Given the description of an element on the screen output the (x, y) to click on. 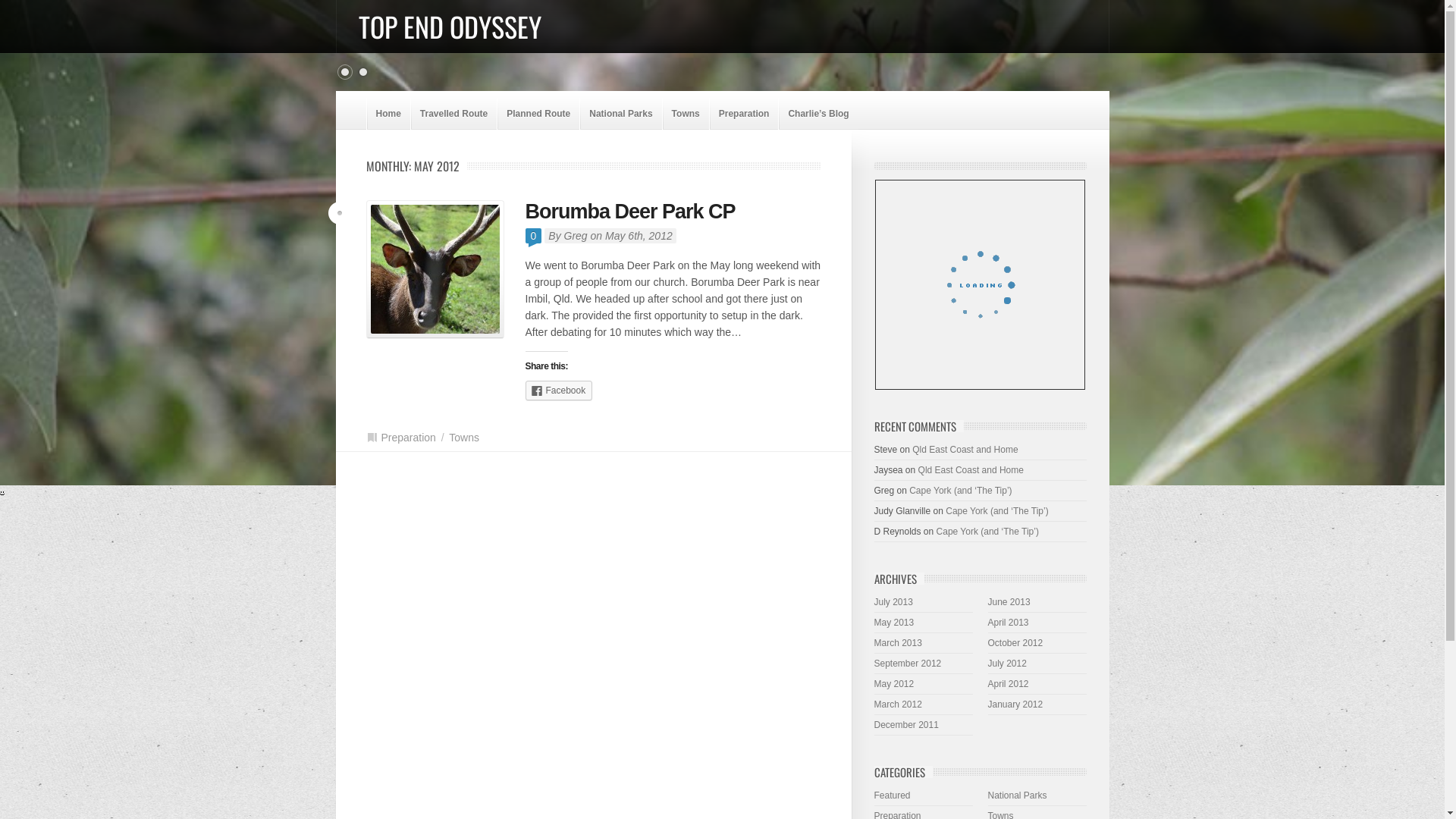
Greg Element type: text (575, 235)
0 Element type: text (343, 71)
Towns Element type: text (463, 437)
Featured Element type: text (891, 795)
May 2013 Element type: text (893, 622)
Borumba Deer Park CP Element type: hover (434, 269)
December 2011 Element type: text (905, 724)
April 2012 Element type: text (1007, 683)
July 2012 Element type: text (1006, 663)
Qld East Coast and Home Element type: text (964, 449)
1 Element type: text (362, 71)
Towns Element type: text (685, 113)
October 2012 Element type: text (1014, 642)
March 2013 Element type: text (897, 642)
Facebook Element type: text (558, 390)
Preparation Element type: text (743, 113)
Preparation Element type: text (407, 437)
Borumba Deer Park CP Element type: text (629, 211)
September 2012 Element type: text (907, 663)
0 Element type: text (532, 235)
March 2012 Element type: text (897, 704)
Planned Route Element type: text (538, 113)
January 2012 Element type: text (1014, 704)
TOP END ODYSSEY Element type: text (448, 26)
July 2013 Element type: text (892, 601)
National Parks Element type: text (1016, 795)
Qld East Coast and Home Element type: text (970, 469)
National Parks Element type: text (620, 113)
April 2013 Element type: text (1007, 622)
Travelled Route Element type: text (453, 113)
June 2013 Element type: text (1008, 601)
Home Element type: text (388, 113)
May 2012 Element type: text (893, 683)
